Given the description of an element on the screen output the (x, y) to click on. 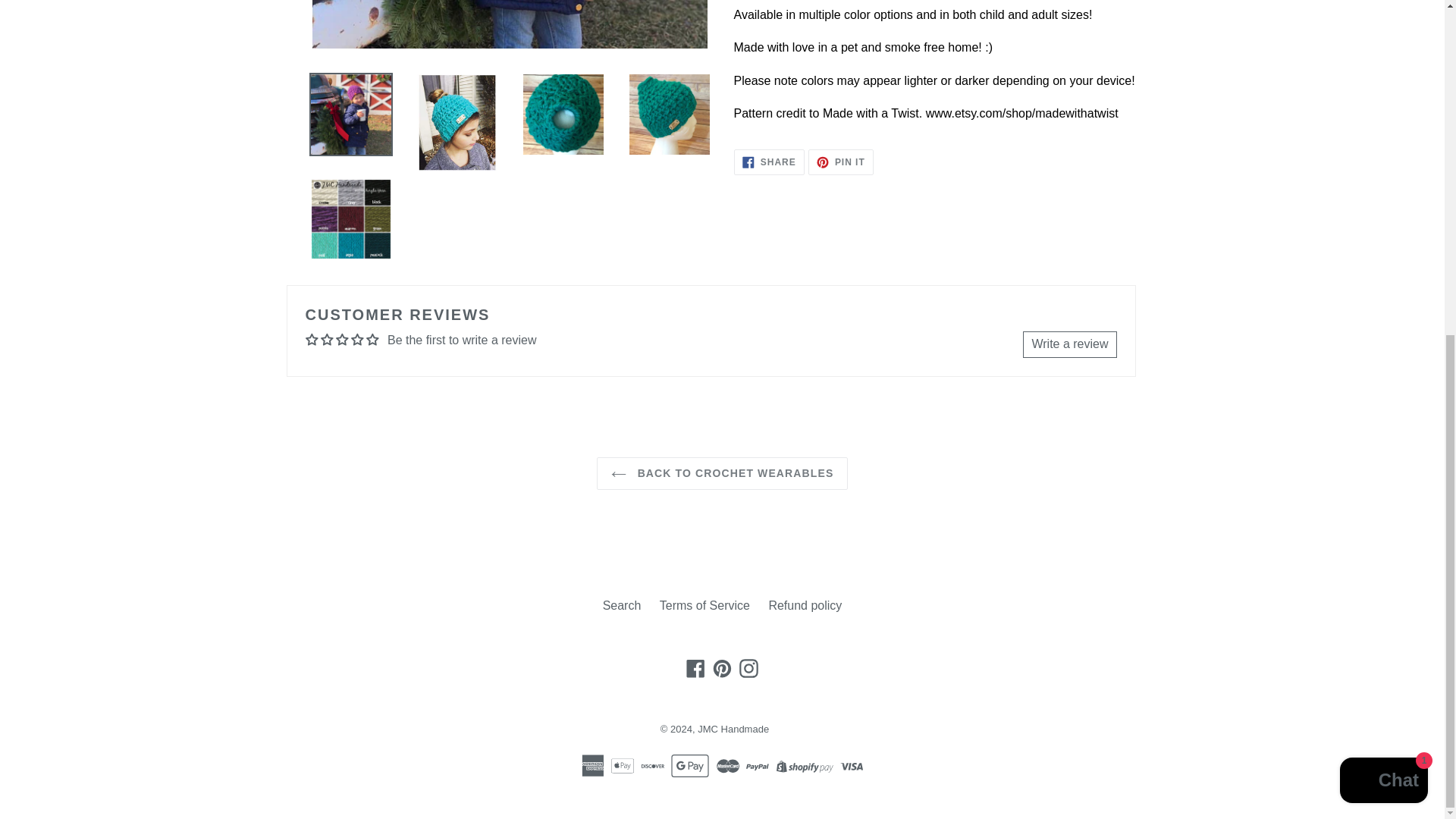
Facebook (769, 162)
Search (695, 668)
Shopify online store chat (622, 604)
Refund policy (840, 162)
JMC Handmade (1383, 219)
BACK TO CROCHET WEARABLES (804, 604)
Instagram (732, 728)
Terms of Service (722, 473)
Pinterest (748, 668)
Write a review (704, 604)
